Given the description of an element on the screen output the (x, y) to click on. 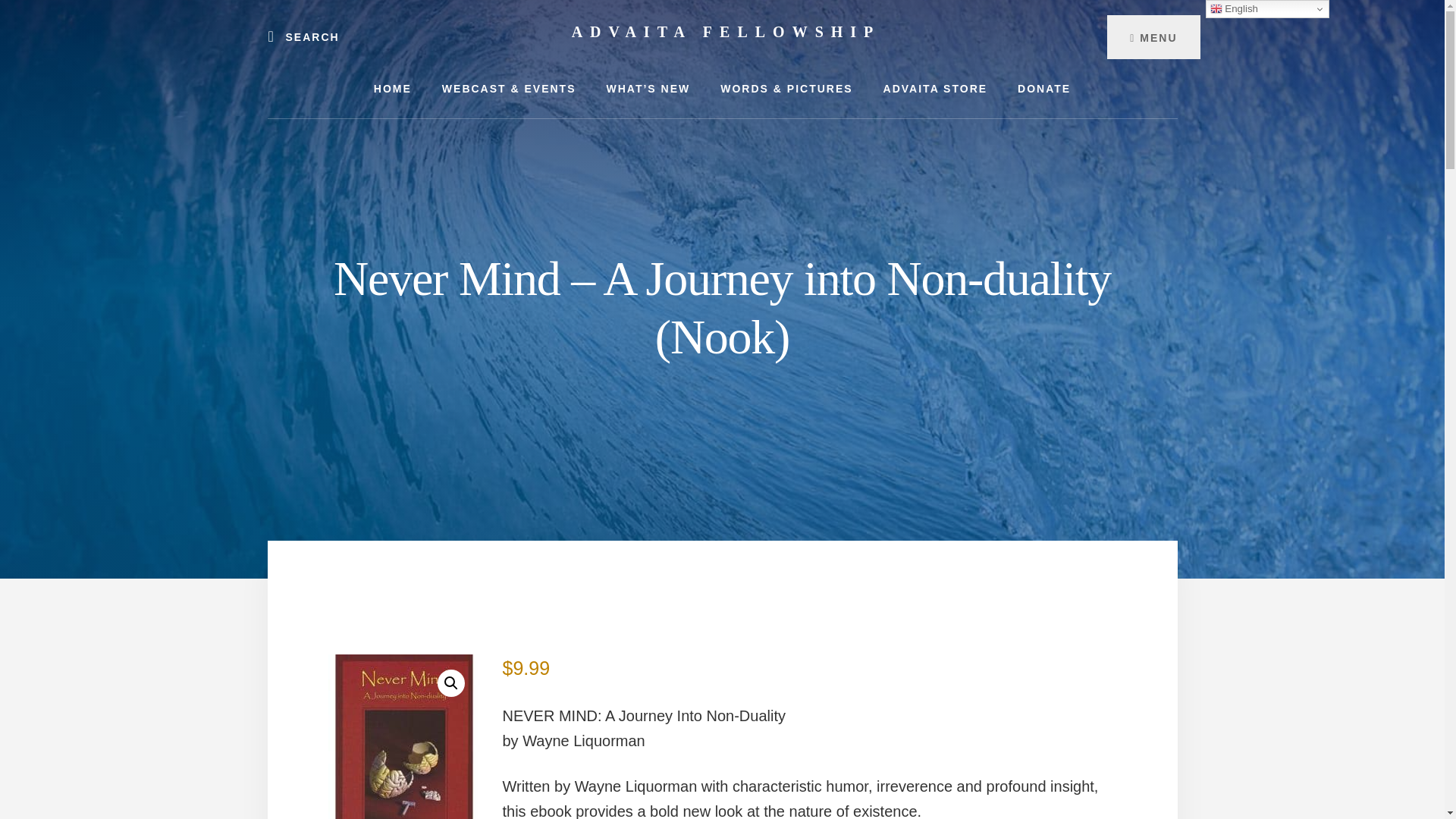
MENU (1152, 36)
NeverMind (403, 736)
ADVAITA STORE (935, 87)
ADVAITA FELLOWSHIP (726, 31)
HOME (392, 87)
DONATE (1044, 87)
